Given the description of an element on the screen output the (x, y) to click on. 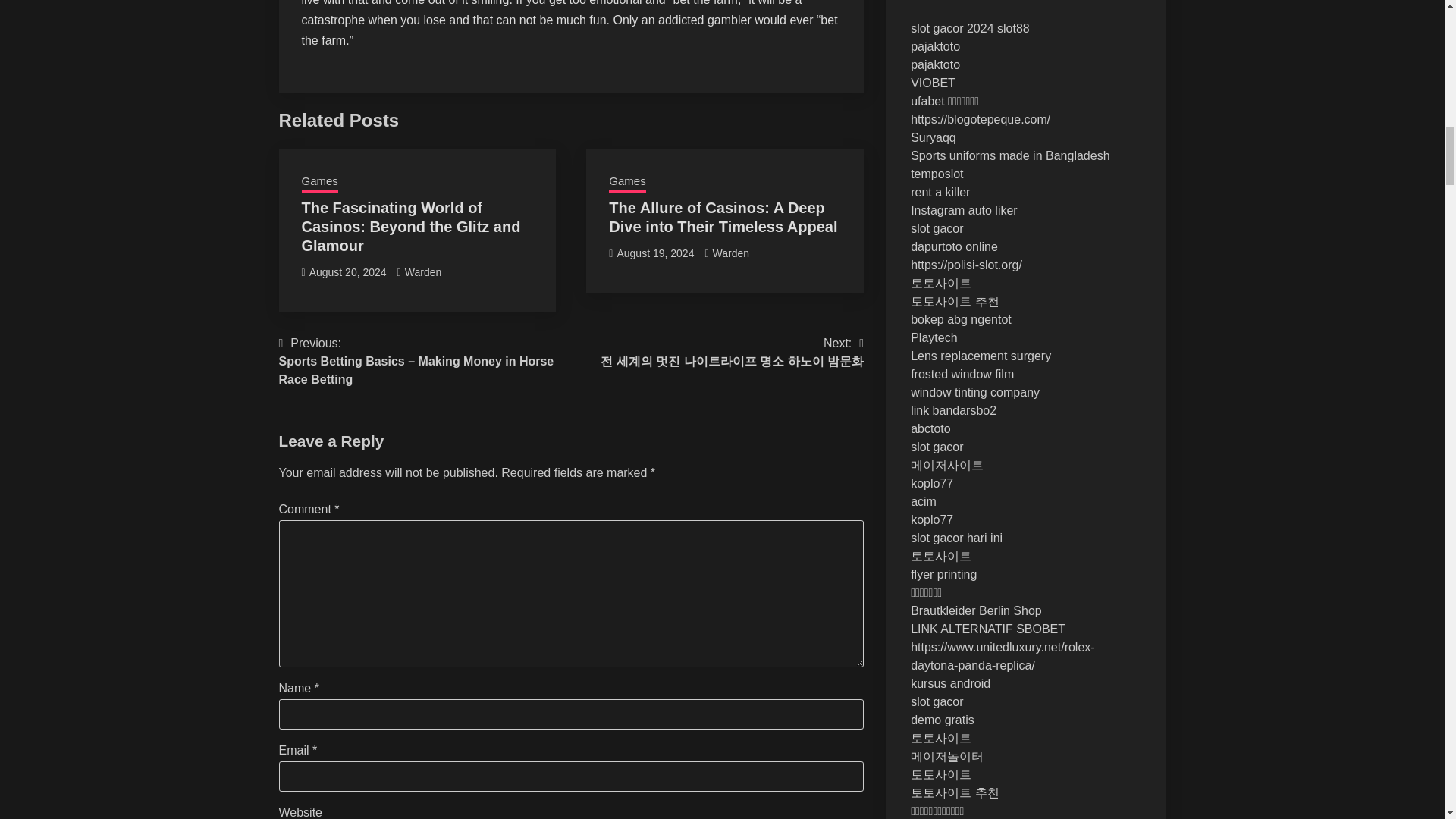
Games (319, 182)
Warden (423, 272)
August 19, 2024 (654, 253)
Warden (731, 253)
Games (626, 182)
August 20, 2024 (347, 272)
